Given the description of an element on the screen output the (x, y) to click on. 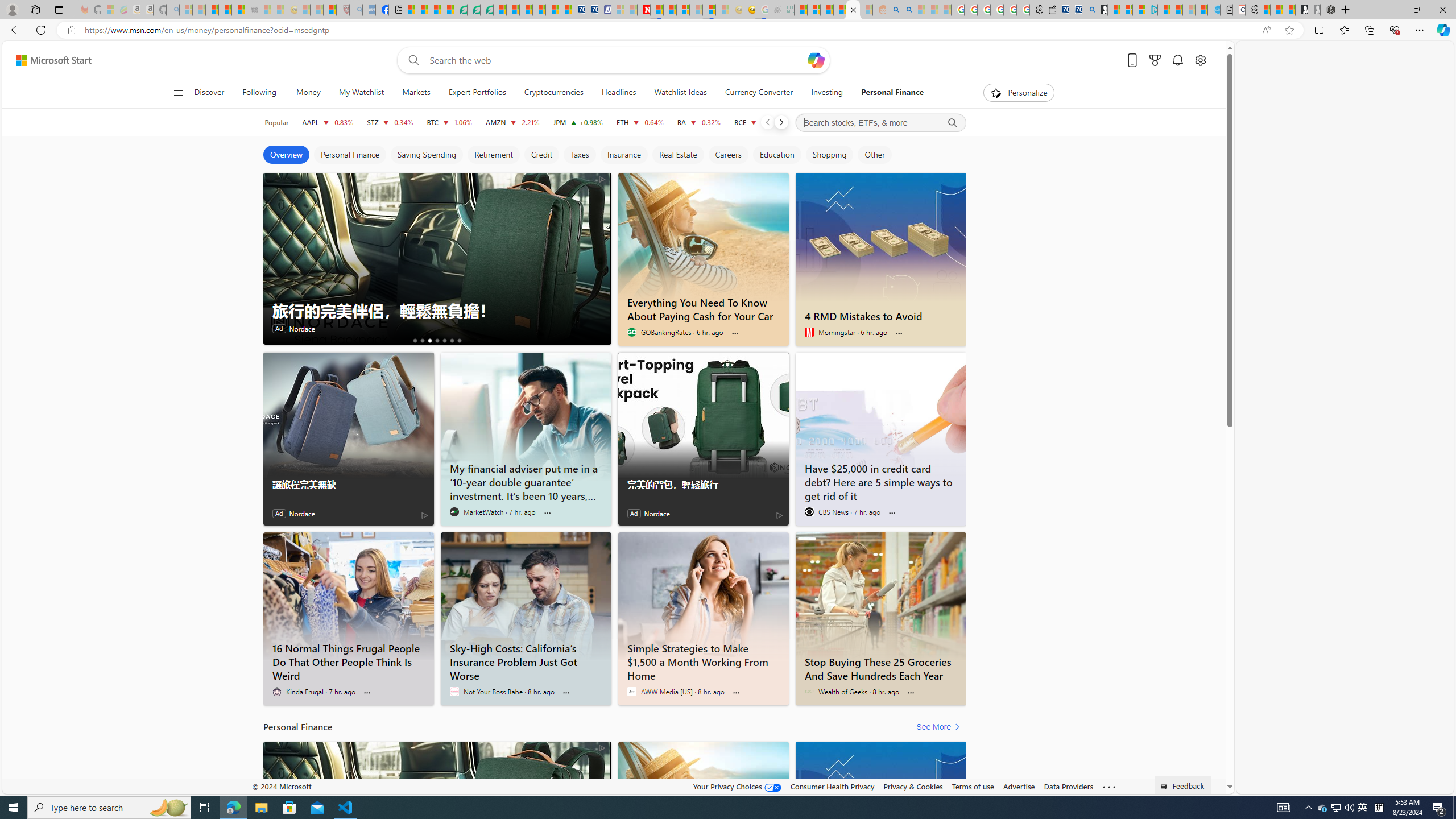
Morningstar (808, 331)
Student Loan Update: Forgiveness Program Ends This Month (839, 9)
AWW Media [US] (631, 691)
